Given the description of an element on the screen output the (x, y) to click on. 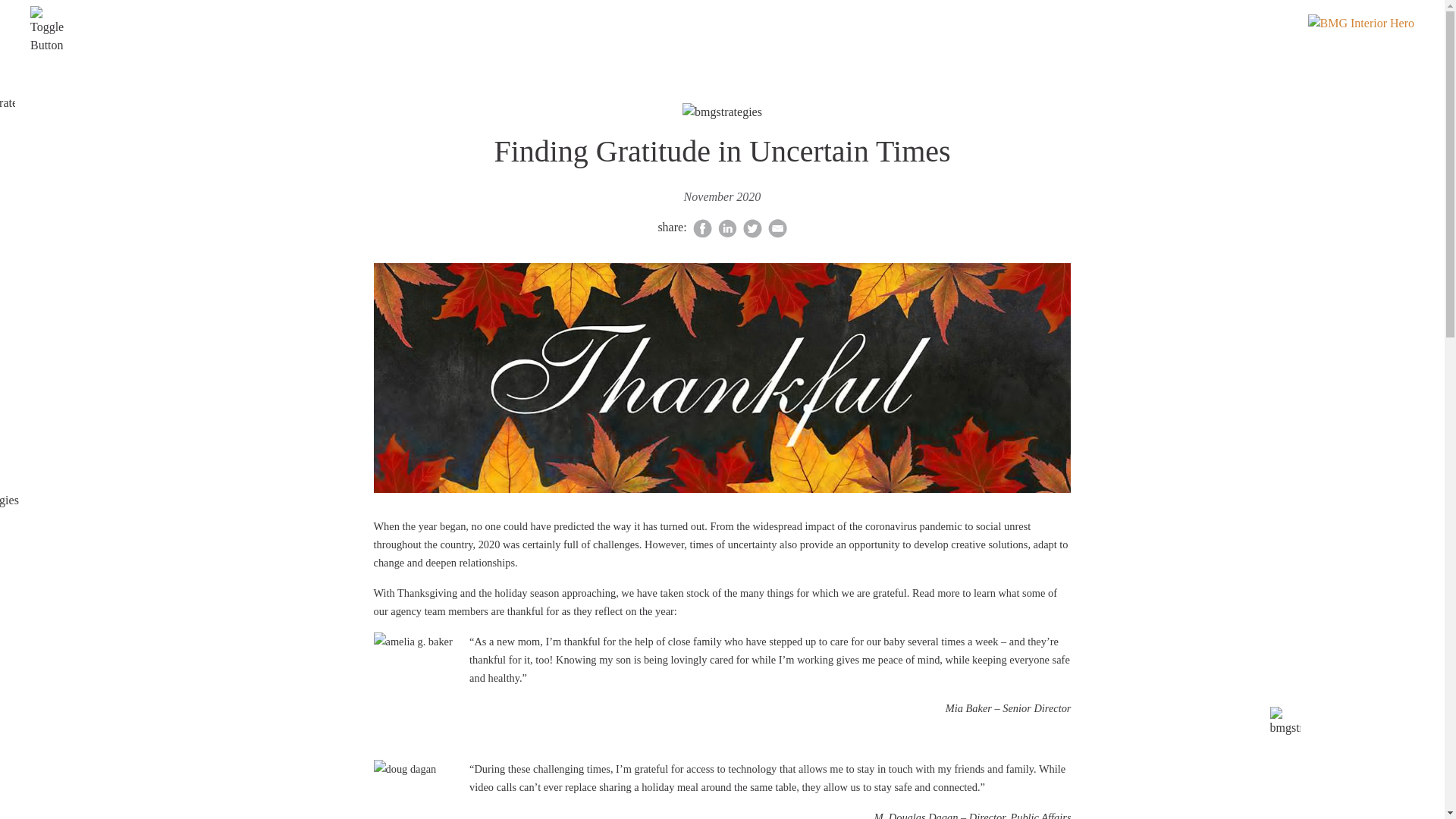
Tweet (751, 226)
Send email (777, 226)
Share on Facebook (702, 226)
Share on LinkedIn (726, 226)
